Given the description of an element on the screen output the (x, y) to click on. 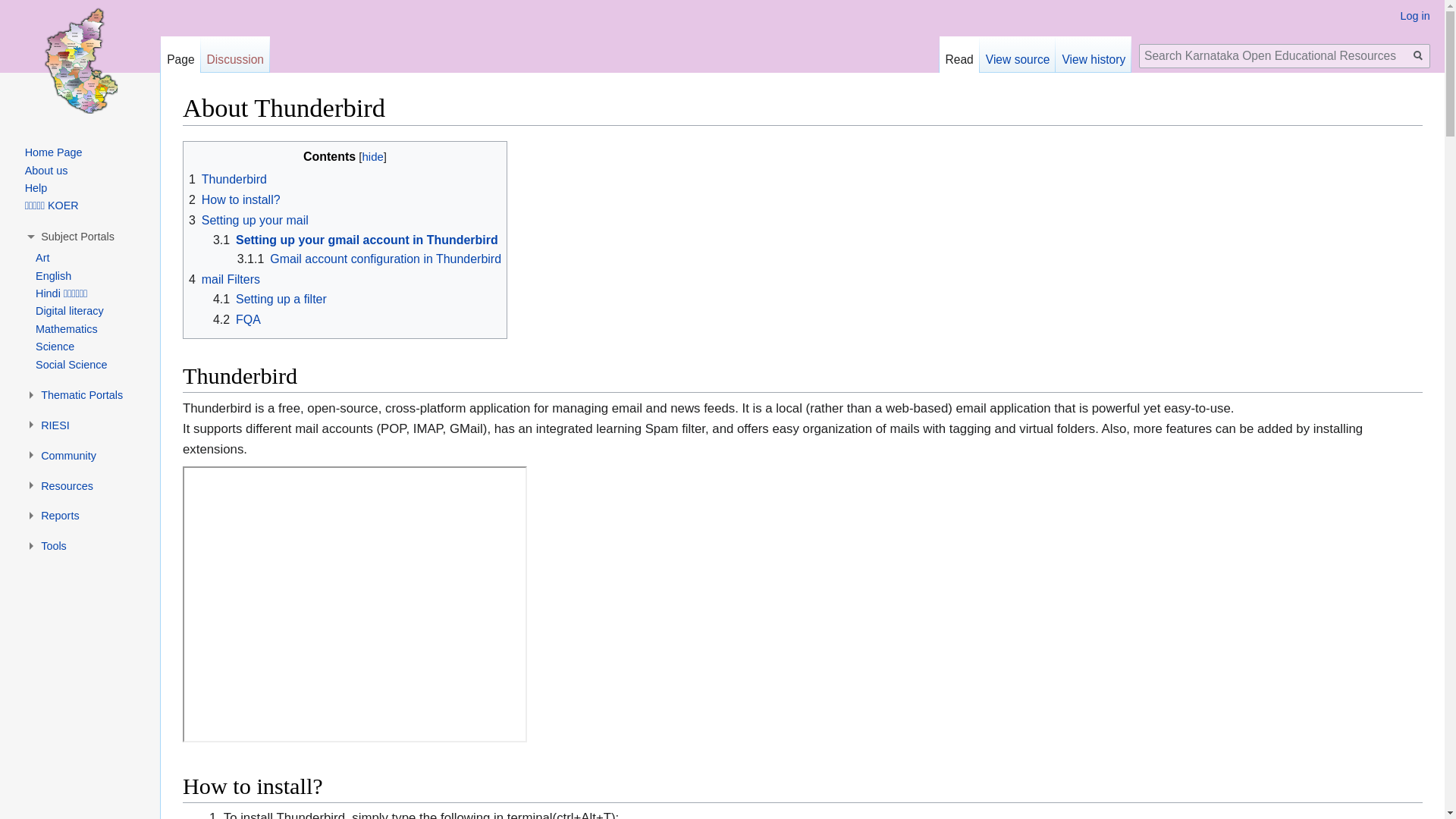
Search (1418, 56)
4.1 Setting up a filter (269, 298)
Go (1418, 56)
3 Setting up your mail (248, 219)
3.1.1 Gmail account configuration in Thunderbird (368, 258)
View source (1018, 54)
View history (1093, 54)
Search the pages for this text (1418, 56)
1 Thunderbird (227, 178)
Discussion (234, 54)
Read (958, 54)
Search (1418, 56)
Visit the main page (79, 60)
Go (1418, 56)
